Given the description of an element on the screen output the (x, y) to click on. 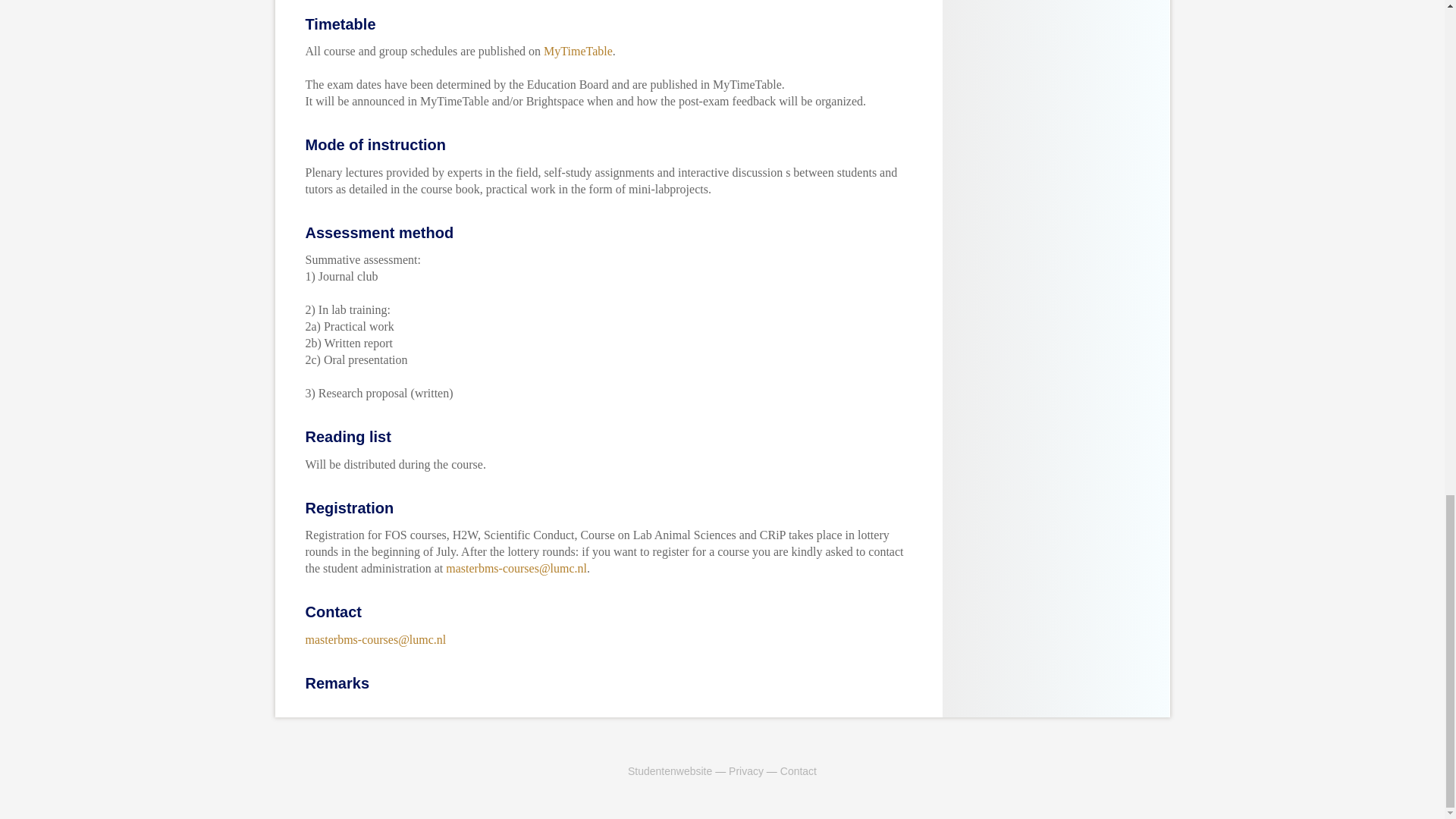
Privacy (745, 770)
MyTimeTable (577, 51)
Studentenwebsite (669, 770)
Contact (798, 770)
